Given the description of an element on the screen output the (x, y) to click on. 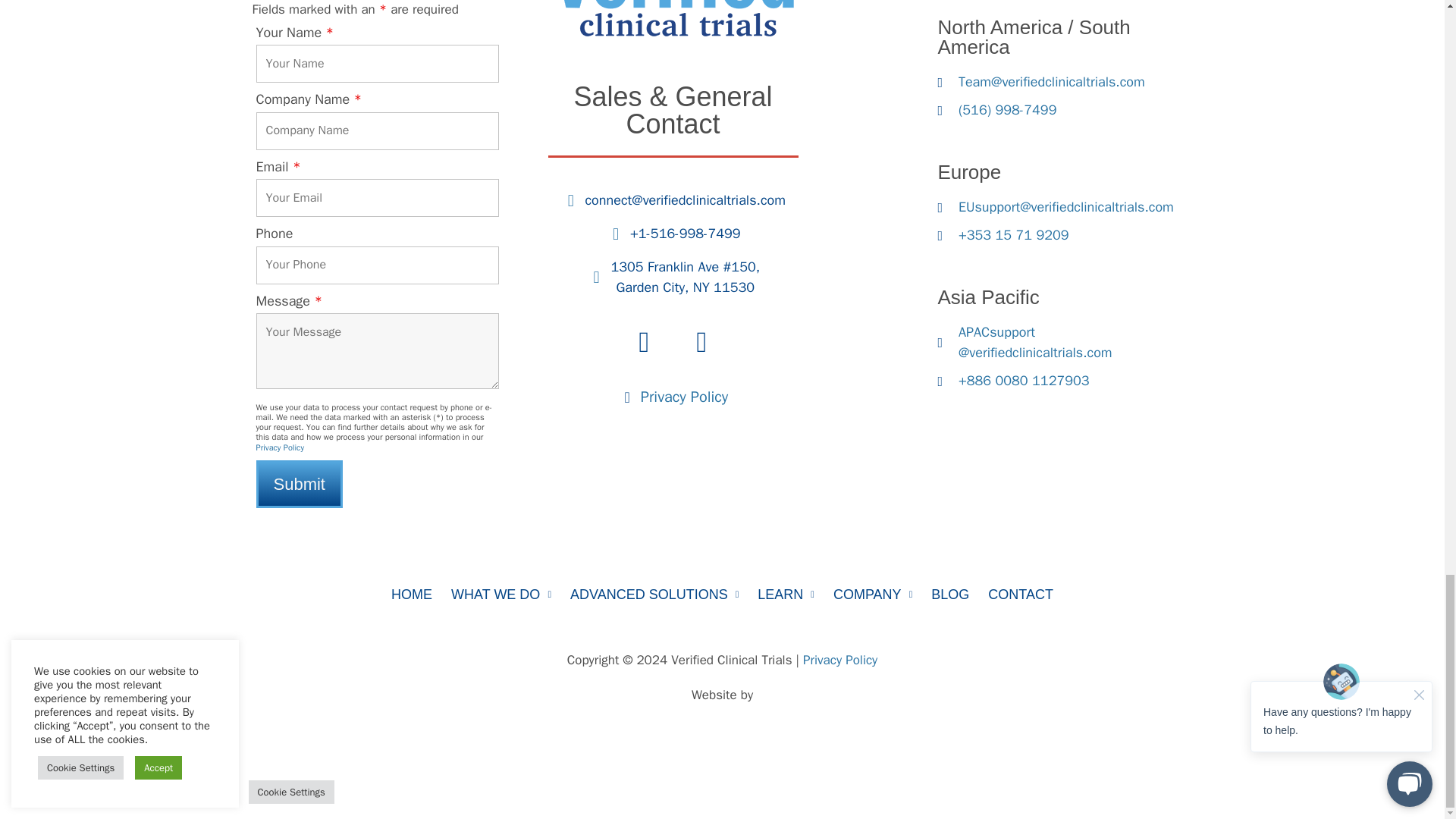
Submit (299, 483)
